Given the description of an element on the screen output the (x, y) to click on. 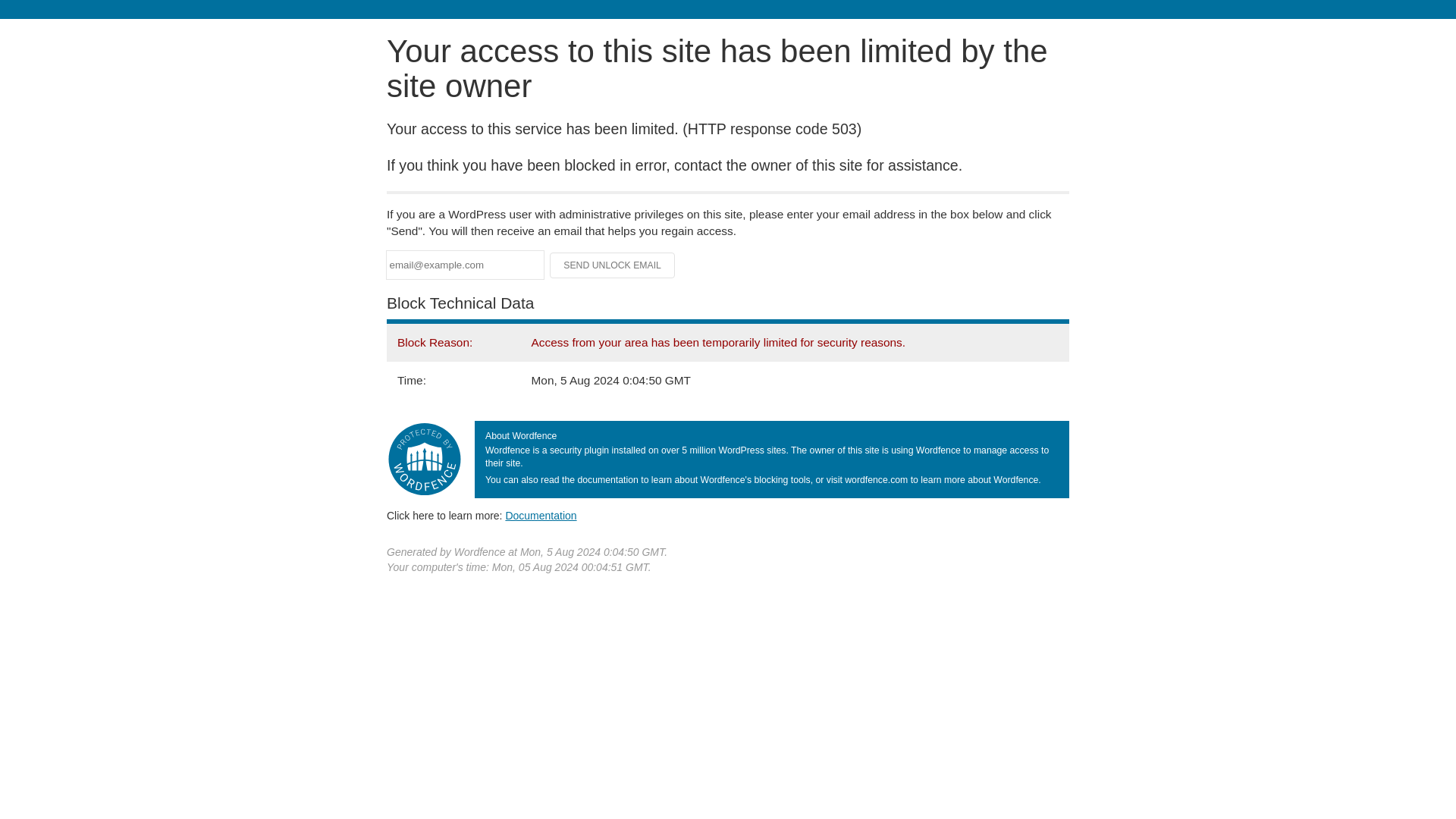
Send Unlock Email (612, 265)
Send Unlock Email (612, 265)
Documentation (540, 515)
